Given the description of an element on the screen output the (x, y) to click on. 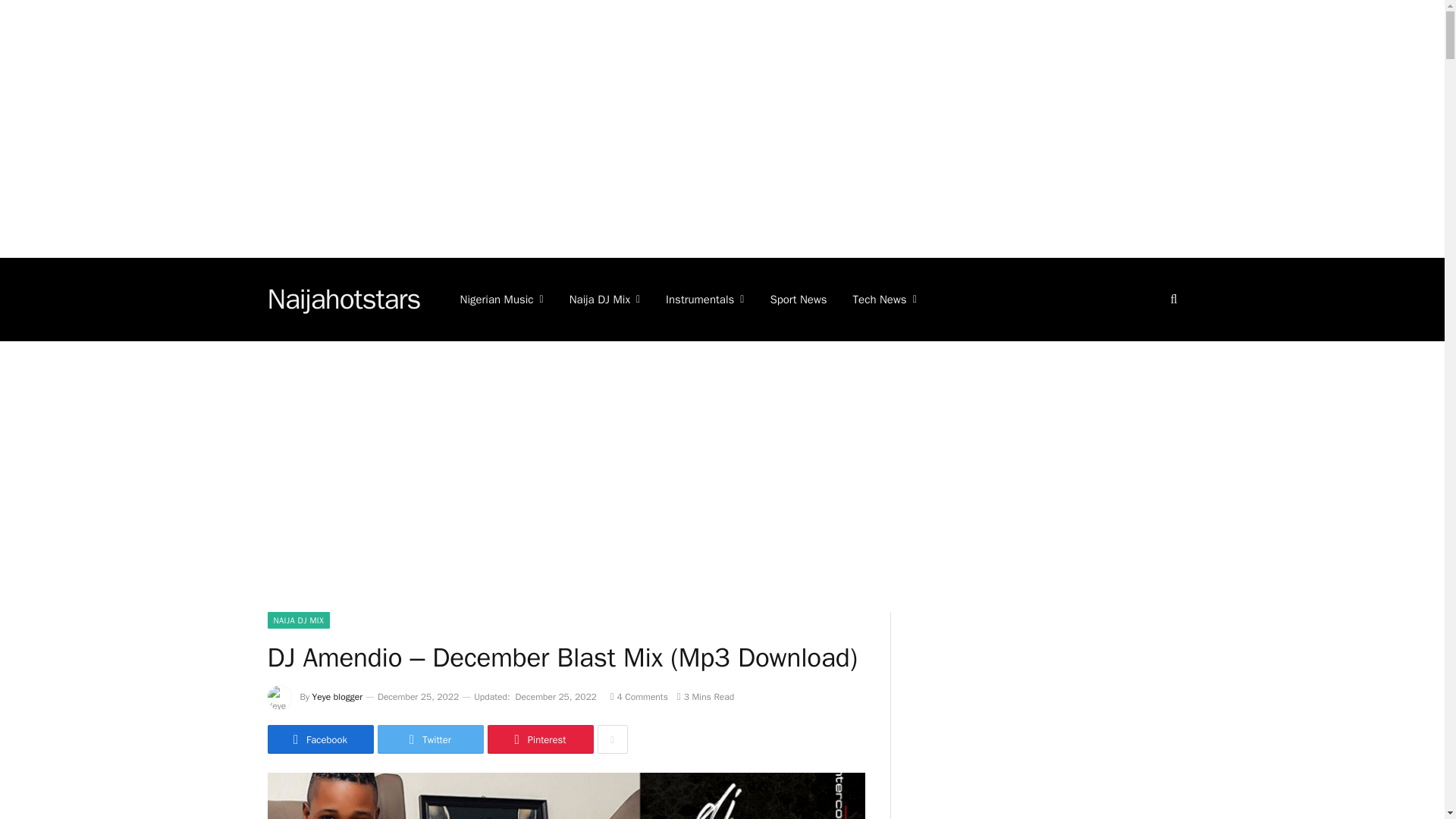
Naija DJ Mix (604, 299)
Nigerian Music (501, 299)
4 Comments (639, 696)
Pinterest (539, 738)
Share on Pinterest (539, 738)
Instrumentals (704, 299)
Posts by Yeye blogger (337, 696)
Facebook (319, 738)
Sport News (798, 299)
Twitter (430, 738)
Tech News (885, 299)
NAIJA DJ MIX (298, 619)
Naijahotstars (343, 299)
